Given the description of an element on the screen output the (x, y) to click on. 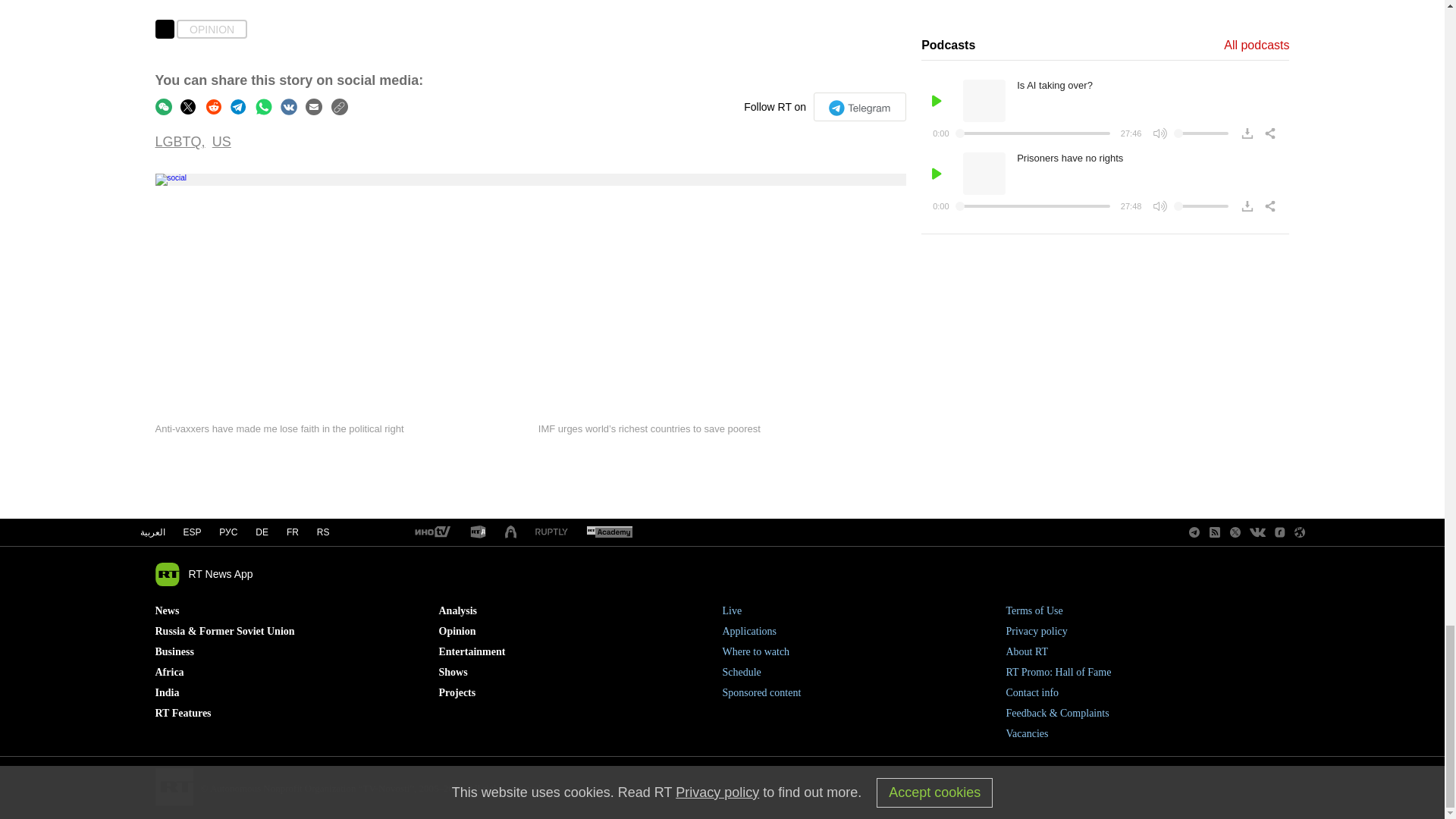
RT  (608, 532)
RT  (551, 532)
RT  (431, 532)
RT  (478, 532)
